Given the description of an element on the screen output the (x, y) to click on. 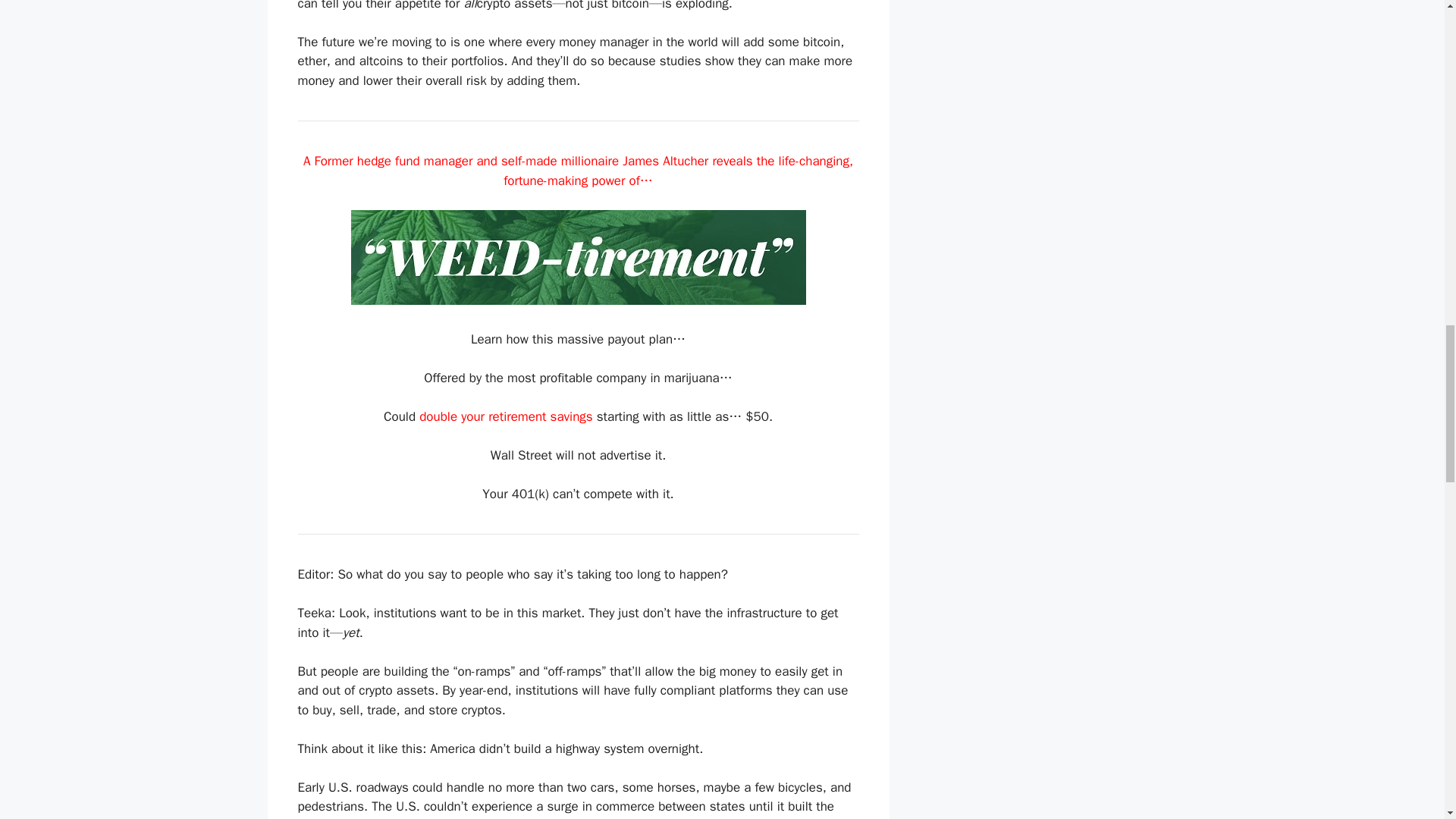
double your retirement savings (505, 416)
